Given the description of an element on the screen output the (x, y) to click on. 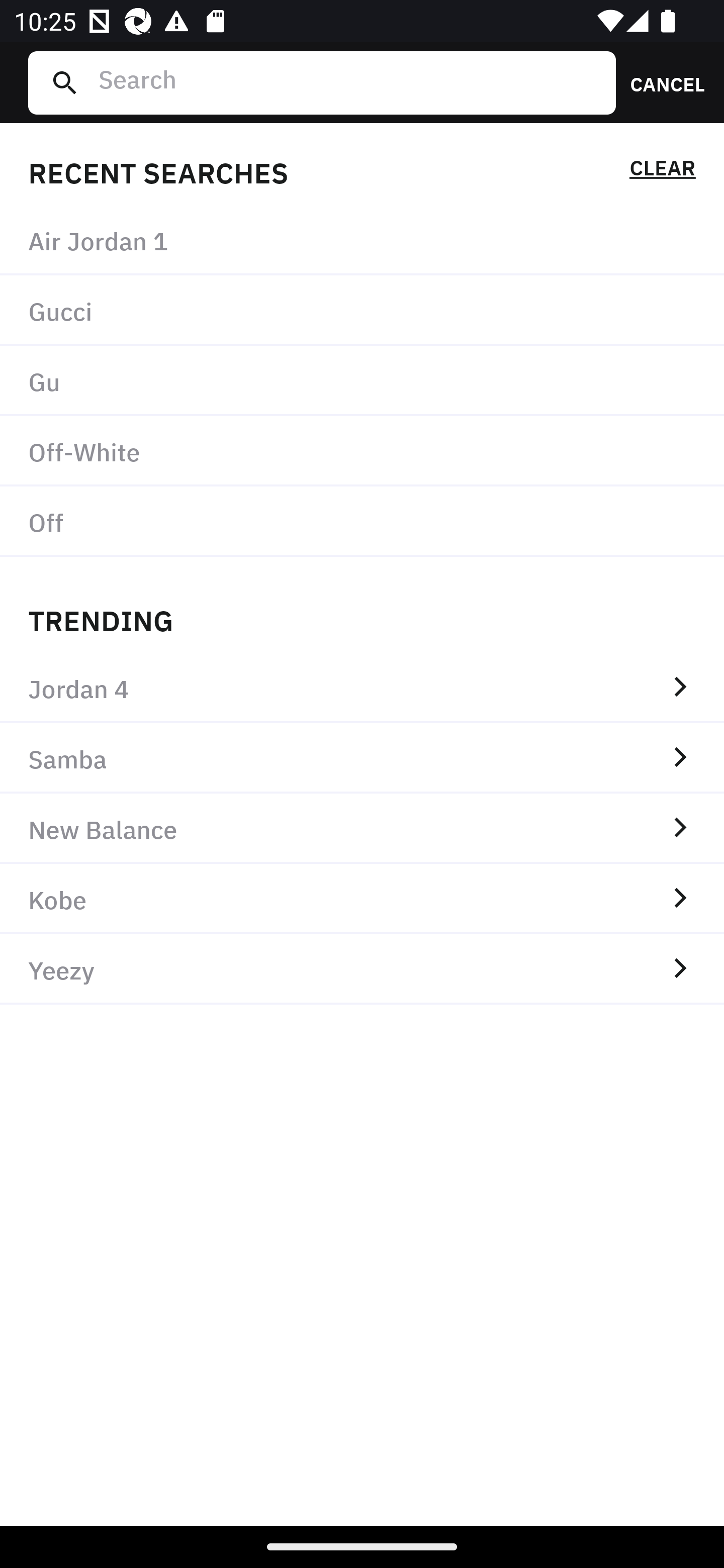
CANCEL (660, 82)
Search (349, 82)
CLEAR (662, 170)
Air Jordan 1 (362, 240)
Gucci (362, 310)
Gu (362, 380)
Off-White (362, 450)
Off (362, 521)
Jordan 4  (362, 687)
Samba  (362, 757)
New Balance  (362, 828)
Kobe  (362, 898)
Yeezy  (362, 969)
